Given the description of an element on the screen output the (x, y) to click on. 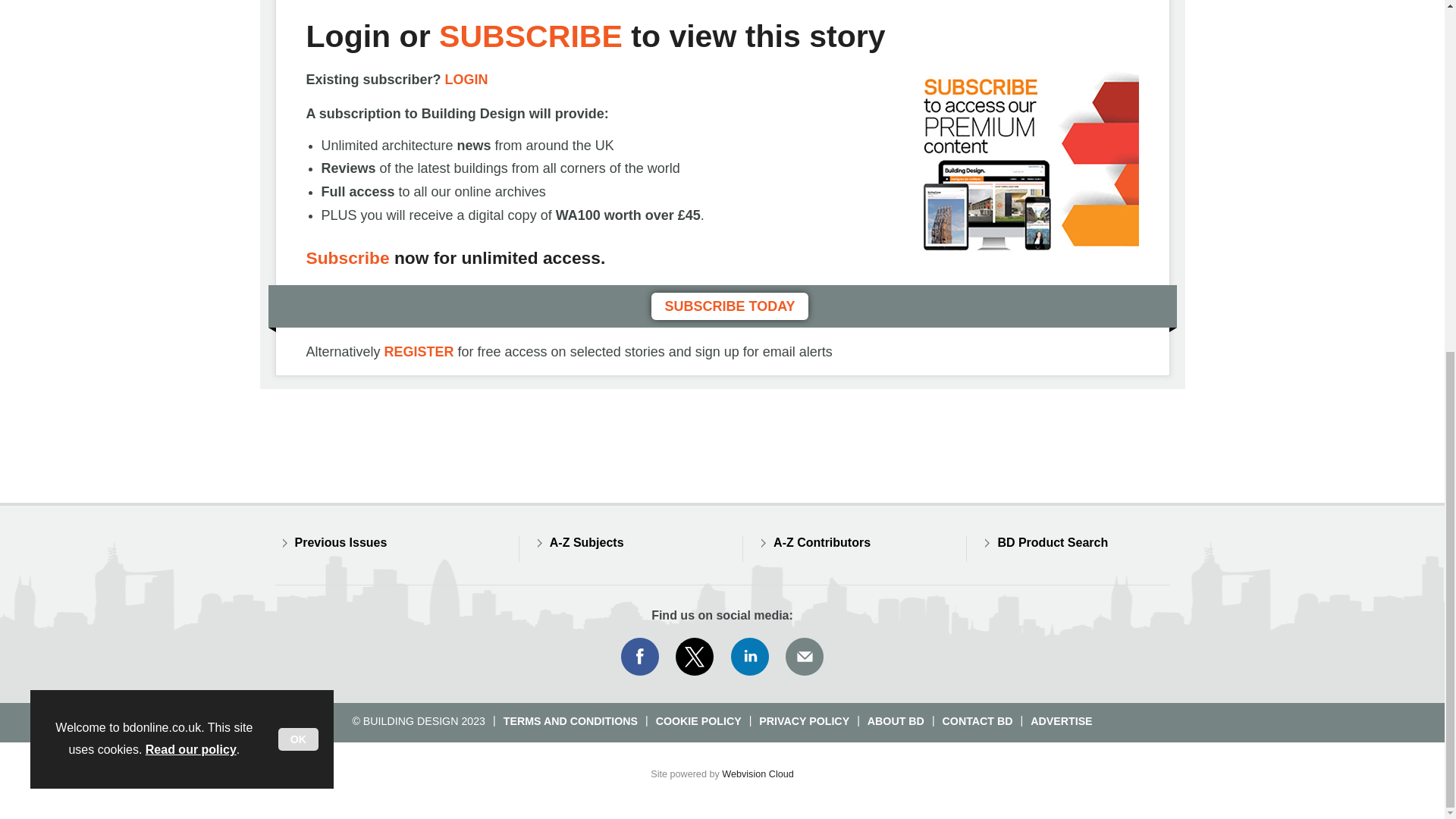
Connect with us on Facebook (639, 656)
OK (298, 128)
Connect with us on Linked in (750, 656)
Email us (804, 656)
Connect with us on Twitter (694, 656)
Read our policy (190, 137)
